Given the description of an element on the screen output the (x, y) to click on. 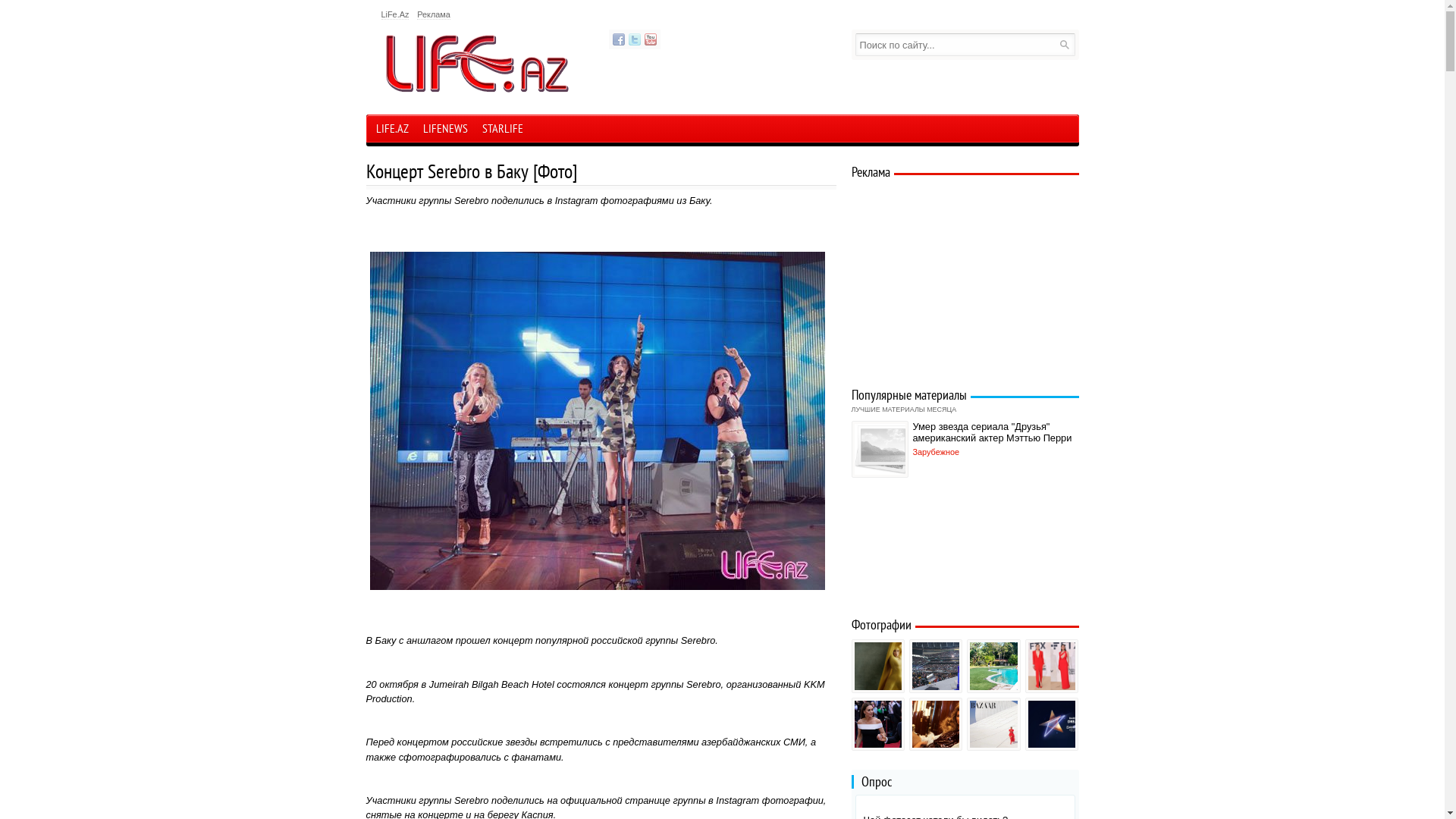
YouTube Element type: hover (650, 39)
STARLIFE Element type: text (501, 130)
LIFENEWS Element type: text (444, 130)
Advertisement Element type: hover (962, 278)
LIFE.AZ Element type: text (391, 128)
Twitter Element type: hover (633, 39)
Facebook Element type: hover (618, 39)
LiFe.Az Element type: text (394, 14)
